Given the description of an element on the screen output the (x, y) to click on. 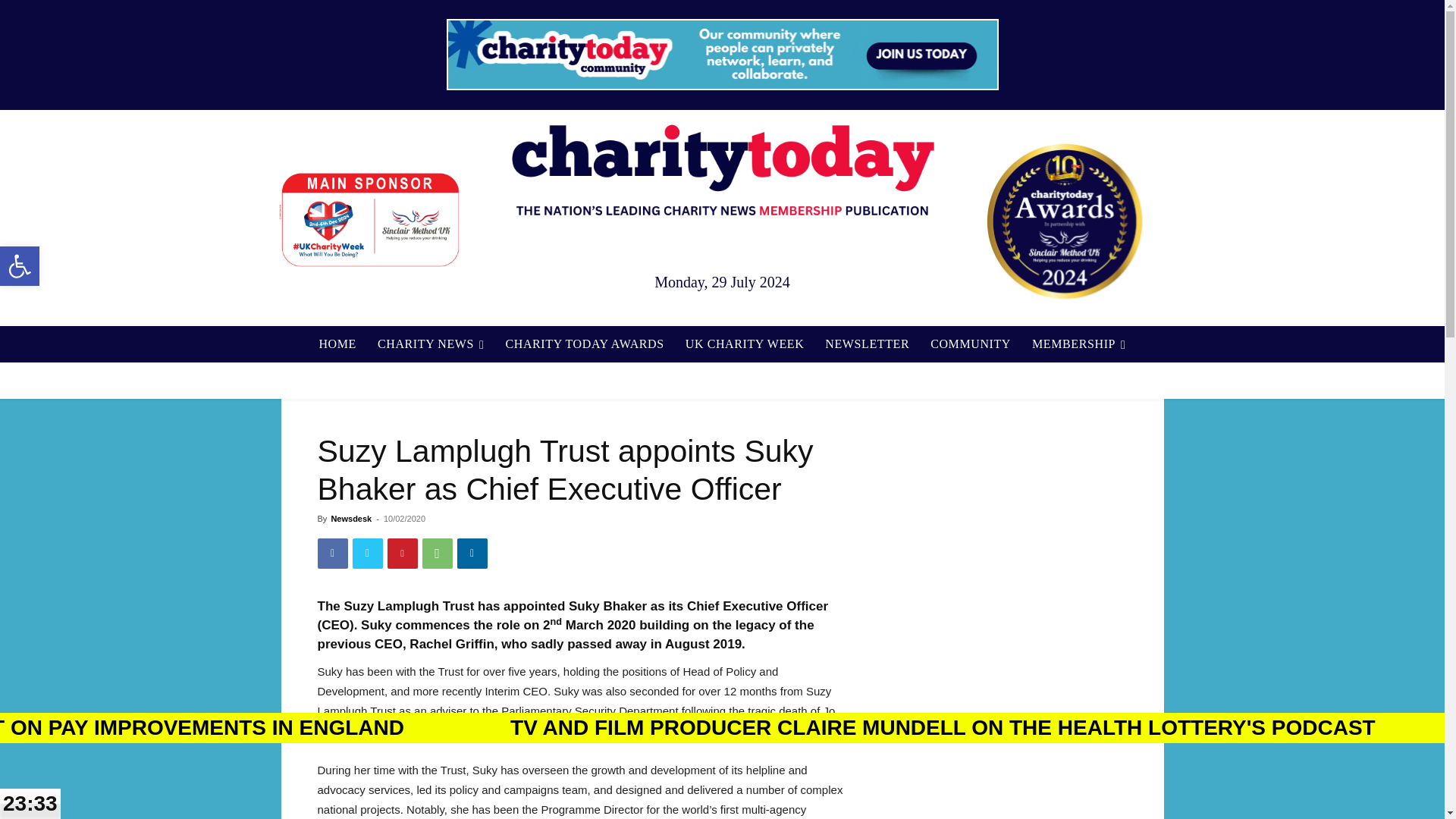
Charity Today Awards logo (1064, 221)
CHARITY NEWS (430, 343)
Accessibility Tools (19, 265)
HOME (336, 343)
Accessibility Tools (19, 265)
